Given the description of an element on the screen output the (x, y) to click on. 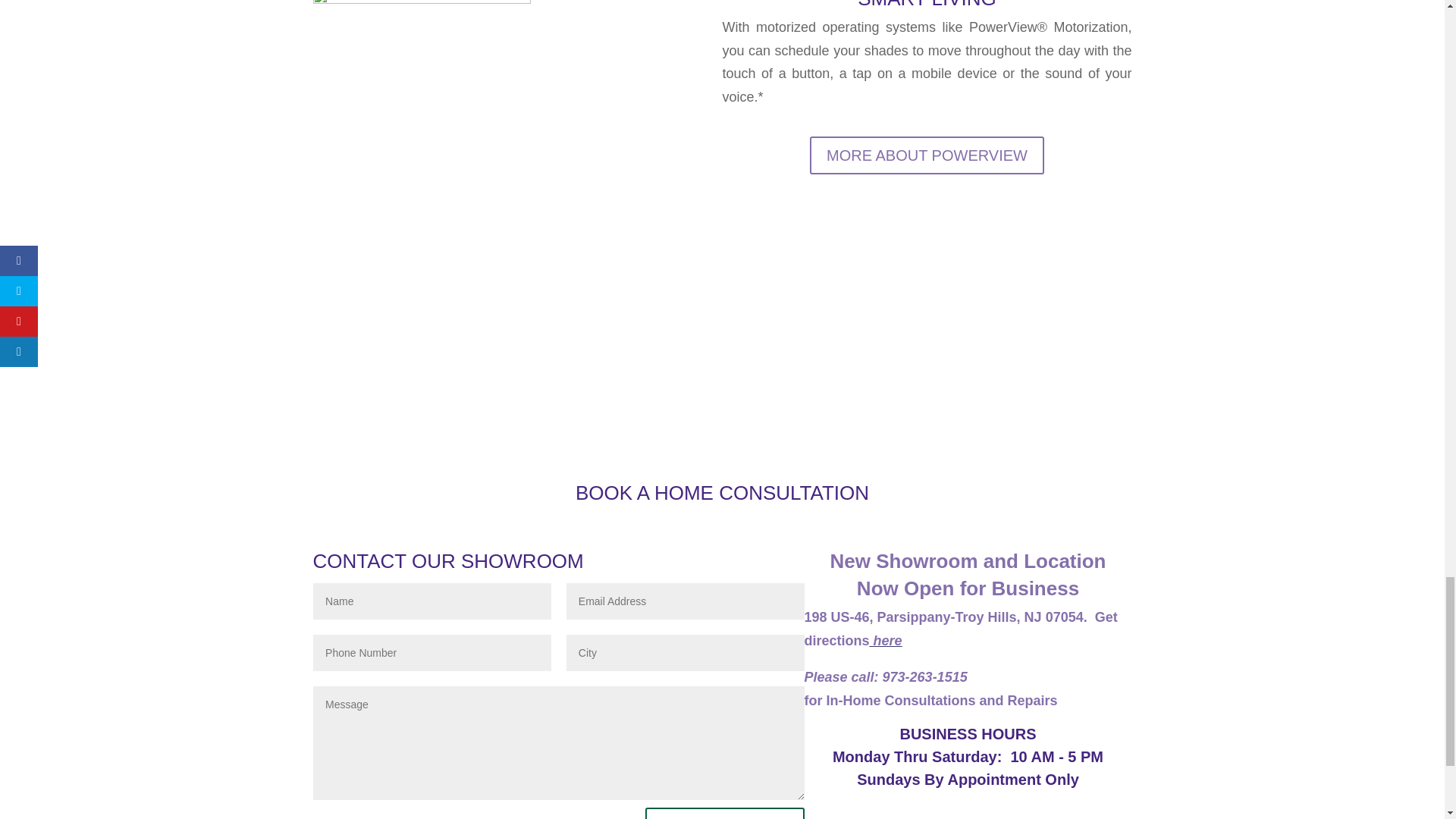
Send My Message (725, 813)
Only letters allowed. (685, 652)
Only numbers allowed. (432, 652)
here (885, 640)
MORE ABOUT POWERVIEW (926, 155)
